Given the description of an element on the screen output the (x, y) to click on. 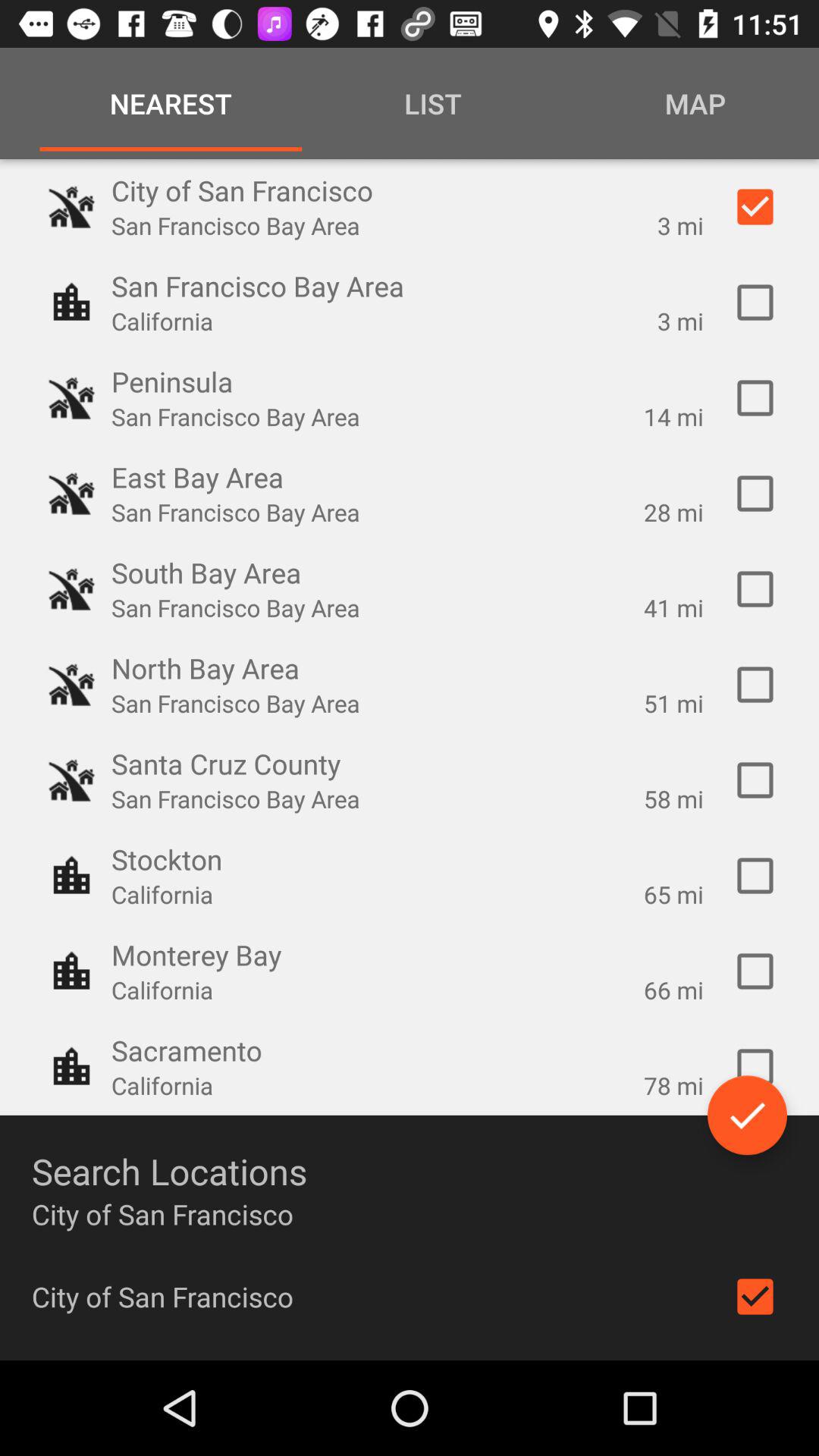
select city as option (755, 1066)
